Given the description of an element on the screen output the (x, y) to click on. 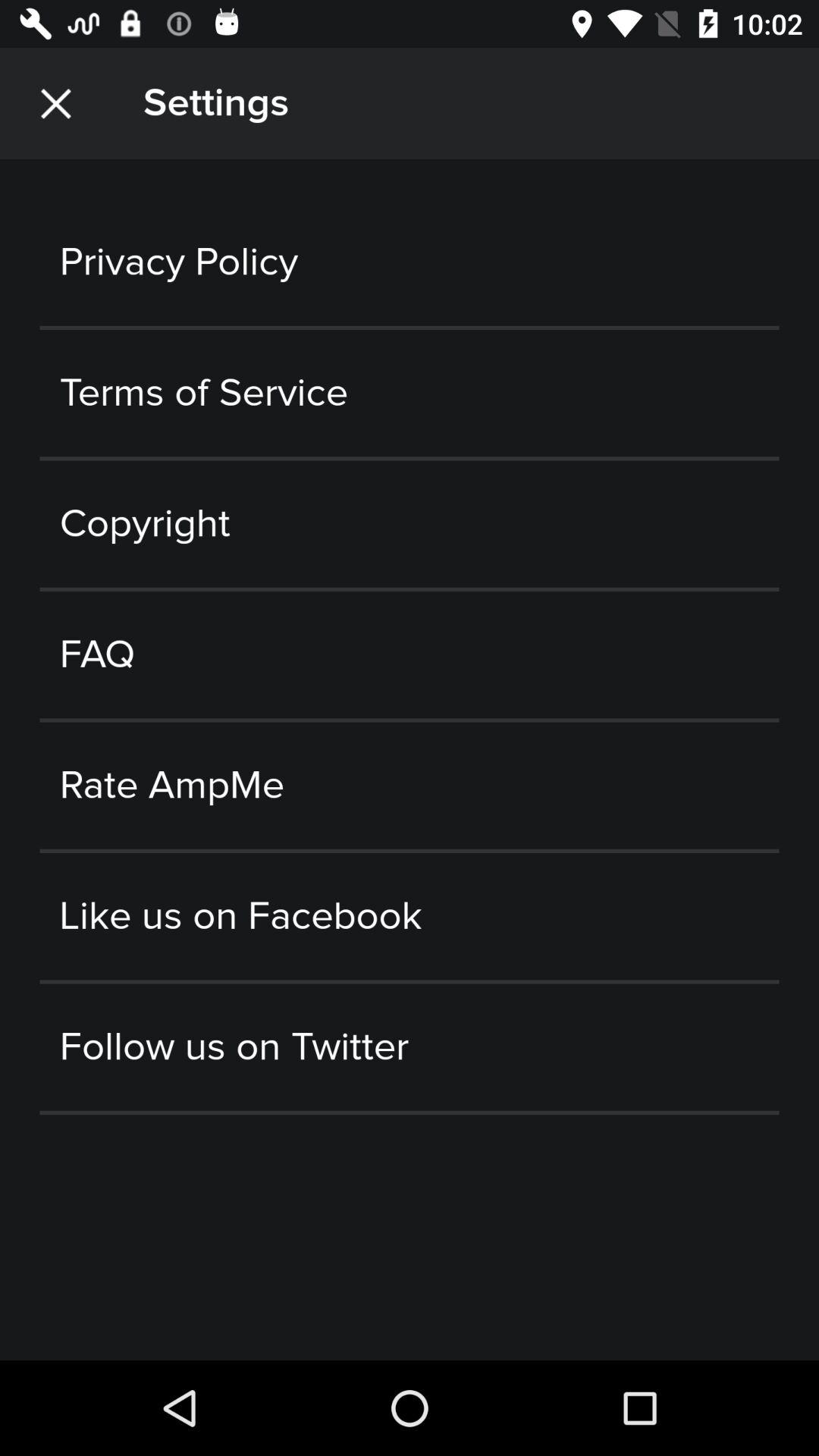
scroll to the copyright icon (409, 523)
